Given the description of an element on the screen output the (x, y) to click on. 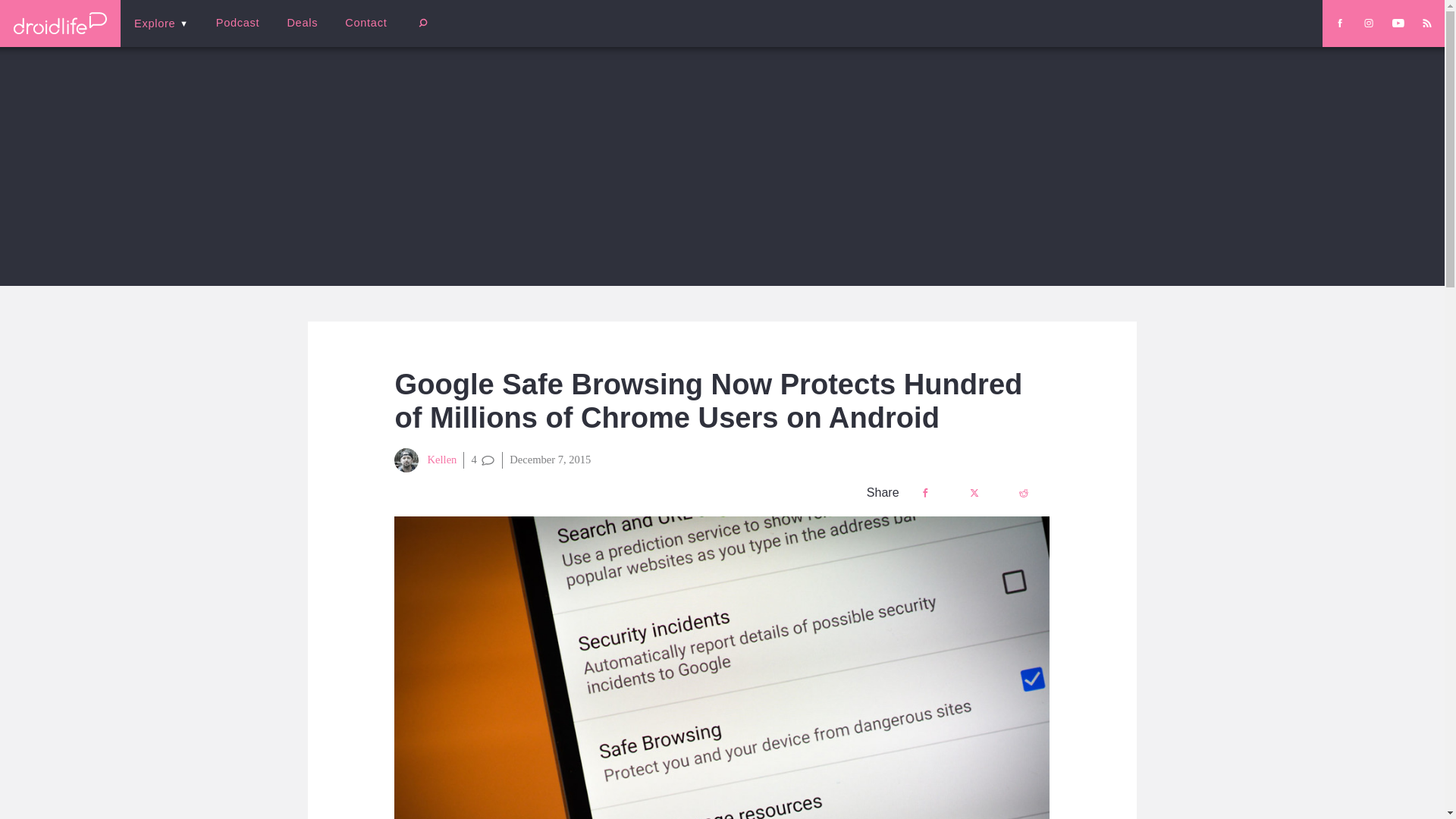
Droid Life on YouTube (1398, 23)
Beginners' Guide (360, 33)
Droid Life on Instagram (1368, 23)
Droid Life on Facebook (1339, 23)
Deals (302, 23)
Contact (365, 23)
Podcast (237, 23)
Droid Life RSS (1426, 23)
Kellen (425, 459)
Explore (161, 23)
